Given the description of an element on the screen output the (x, y) to click on. 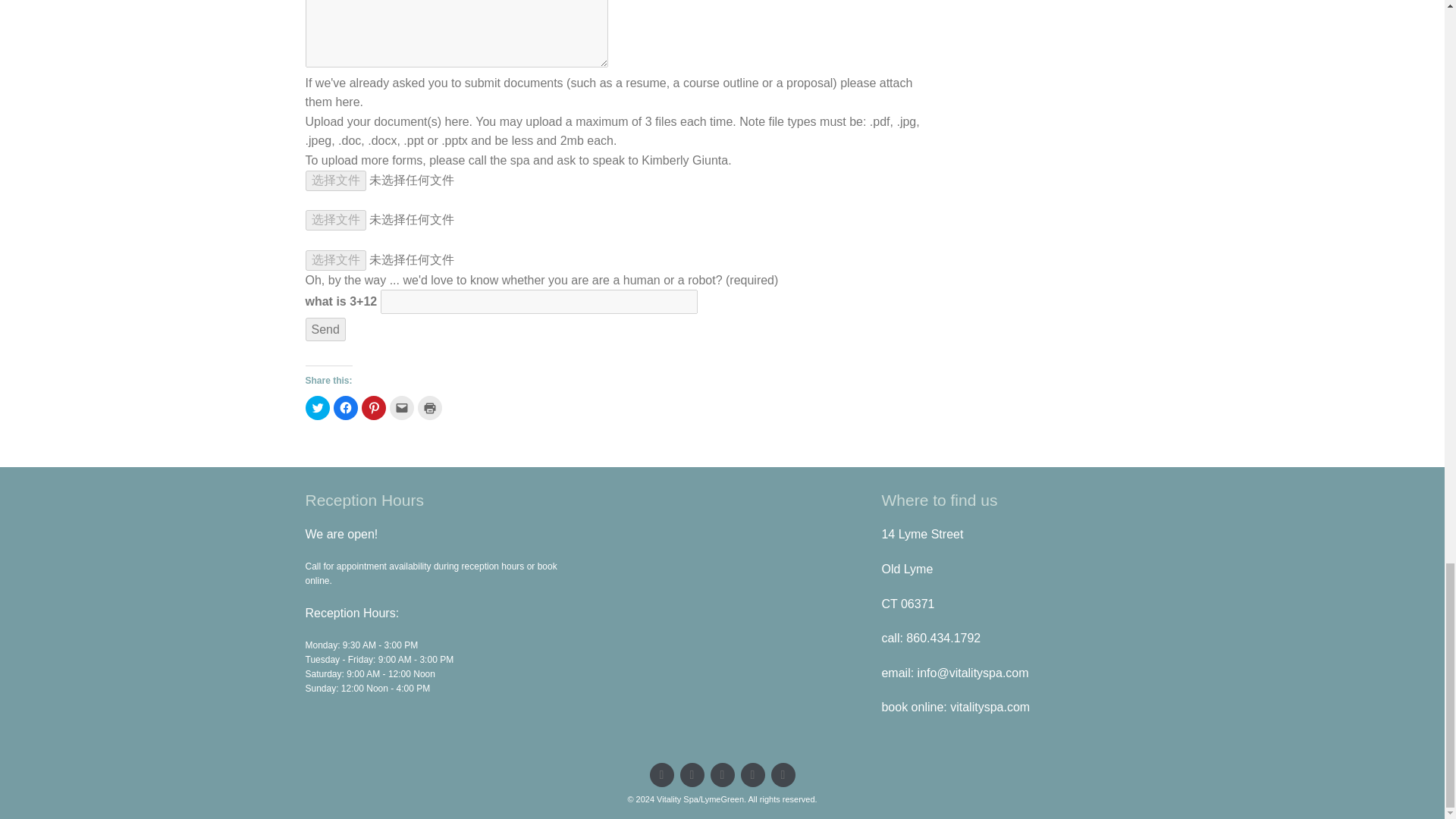
Click to email a link to a friend (401, 407)
Click to share on Pinterest (373, 407)
Click to share on Twitter (316, 407)
Send (324, 329)
Instagram (782, 774)
Click to print (428, 407)
Click to share on Facebook (345, 407)
Facebook (691, 774)
Twitter (660, 774)
Pinterest (721, 774)
